Given the description of an element on the screen output the (x, y) to click on. 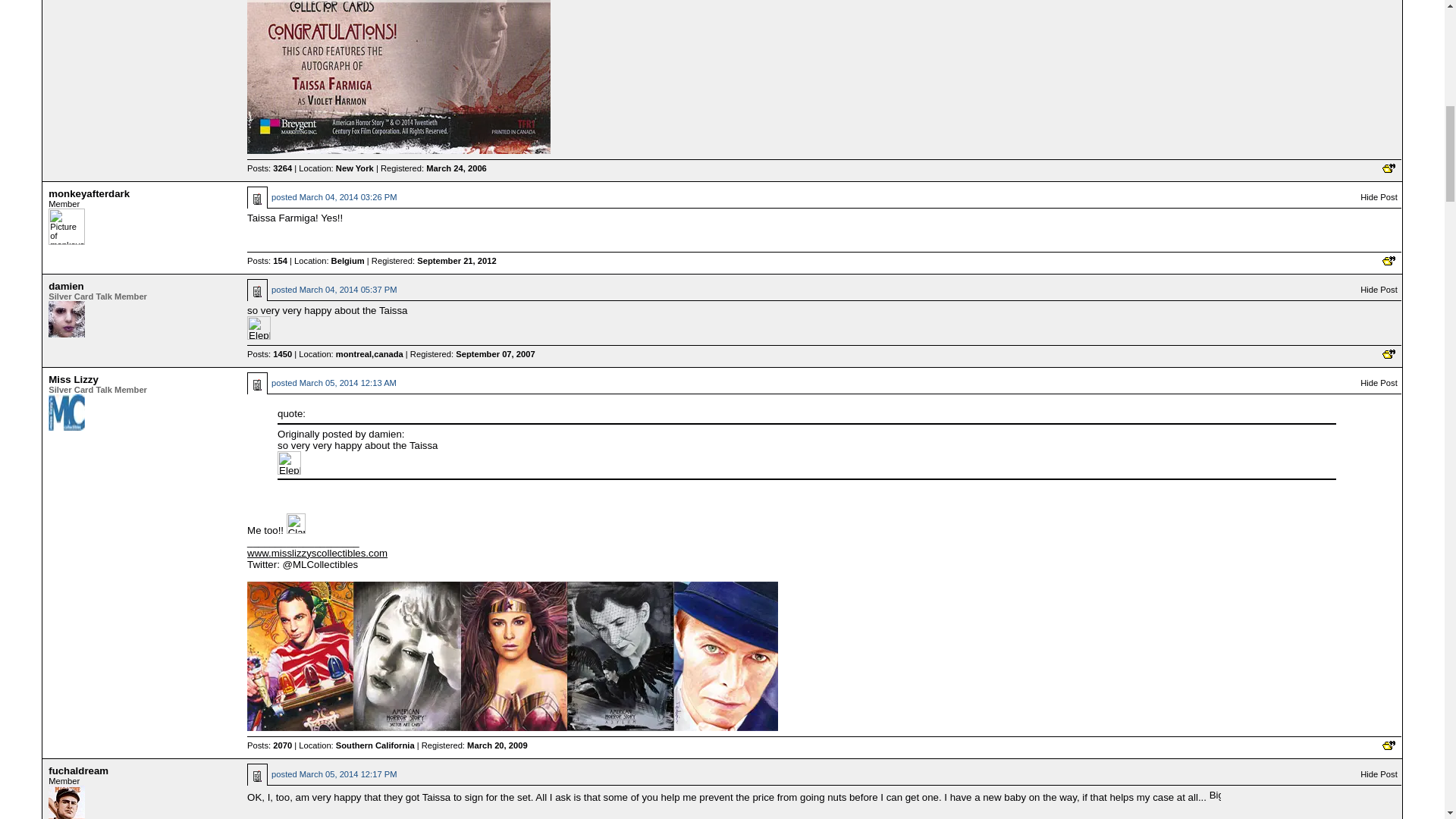
Reply With Quote (1387, 260)
Reply With Quote (1387, 353)
Reply With Quote (1387, 167)
Picture of monkeyafterdark (66, 226)
Picture of damien (66, 319)
